Given the description of an element on the screen output the (x, y) to click on. 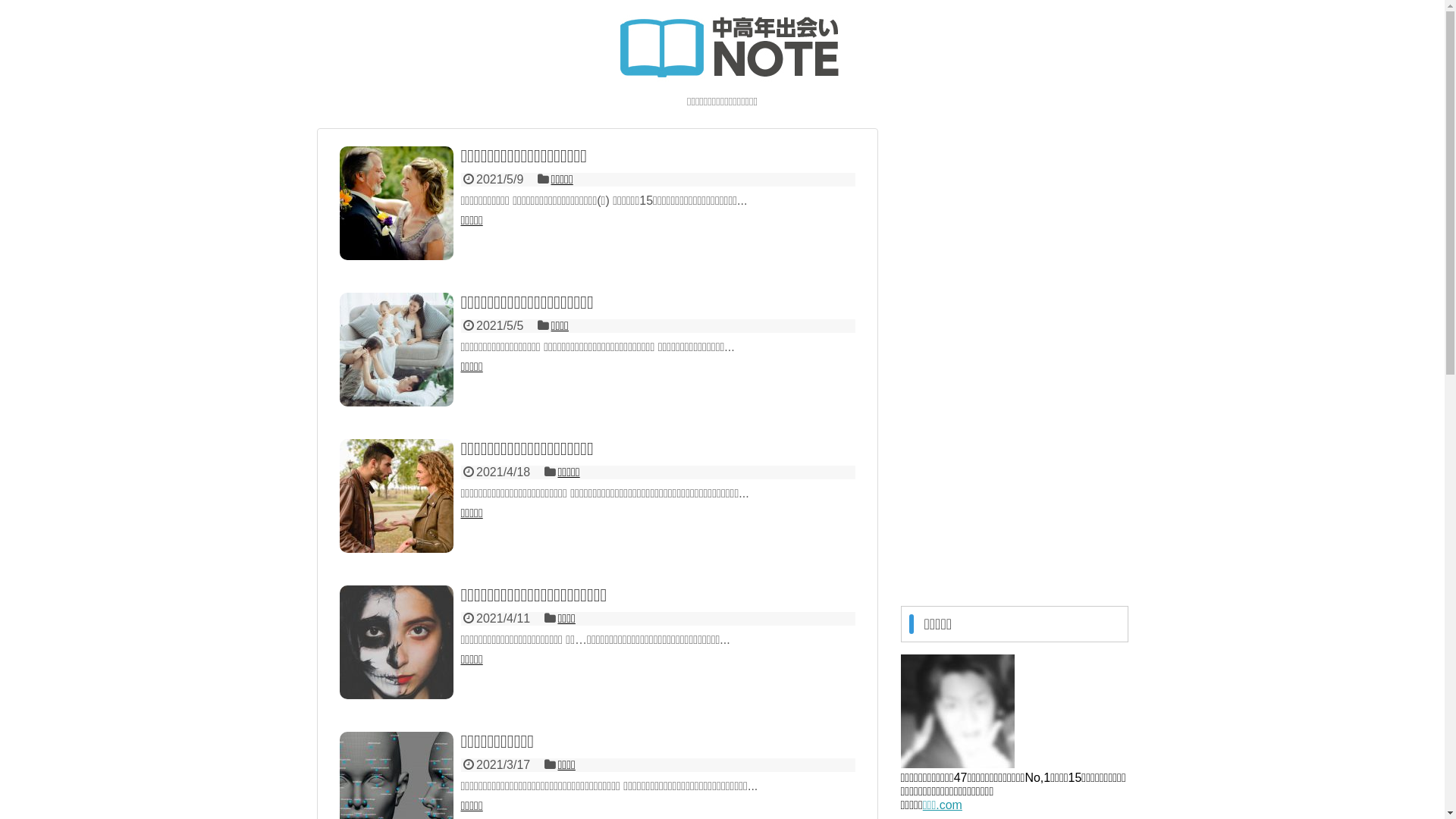
Advertisement Element type: hover (1014, 355)
